Given the description of an element on the screen output the (x, y) to click on. 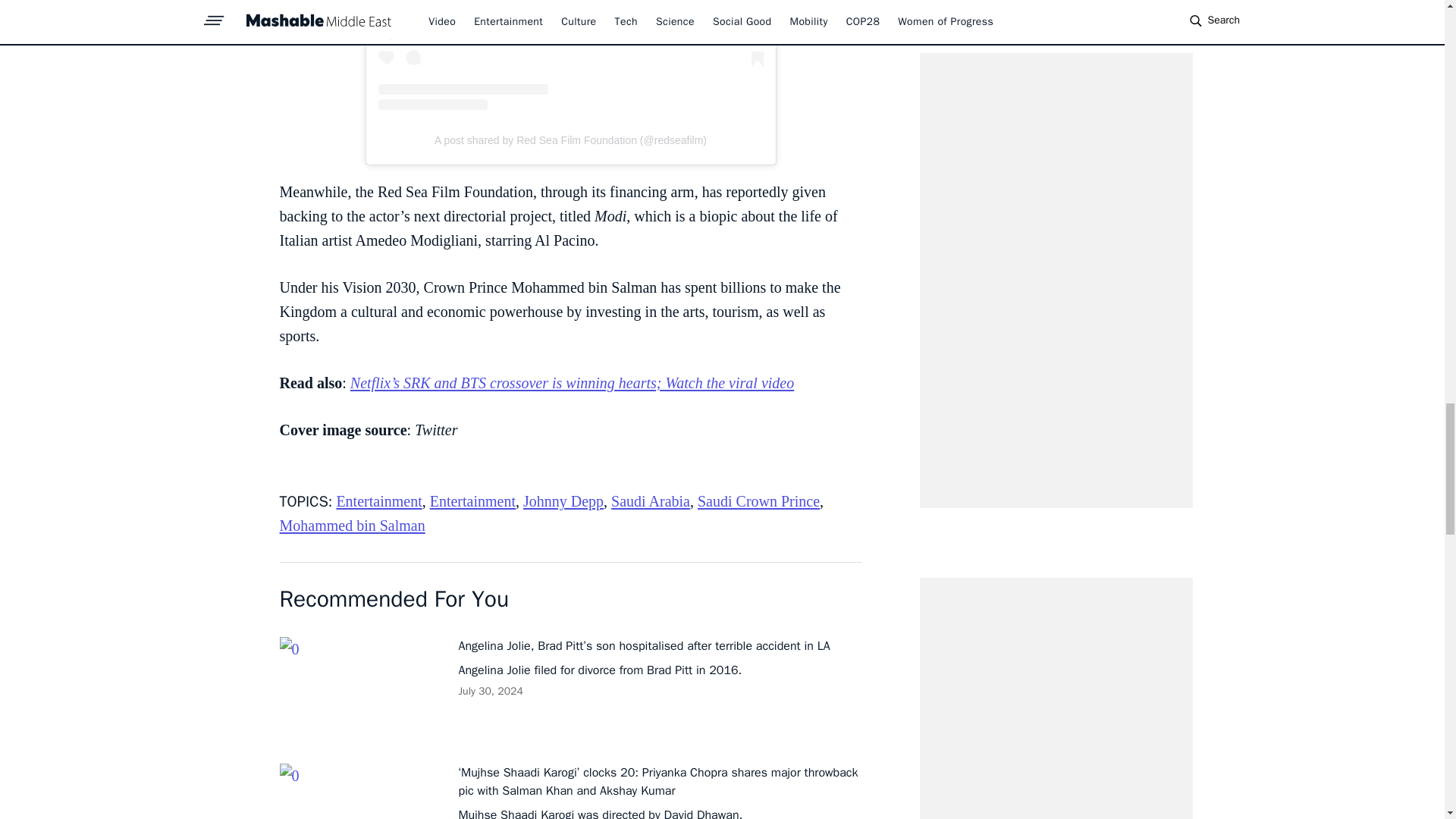
Entertainment (472, 501)
Saudi Arabia (650, 501)
Johnny Depp (563, 501)
Entertainment (379, 501)
View this post on Instagram (569, 55)
